Given the description of an element on the screen output the (x, y) to click on. 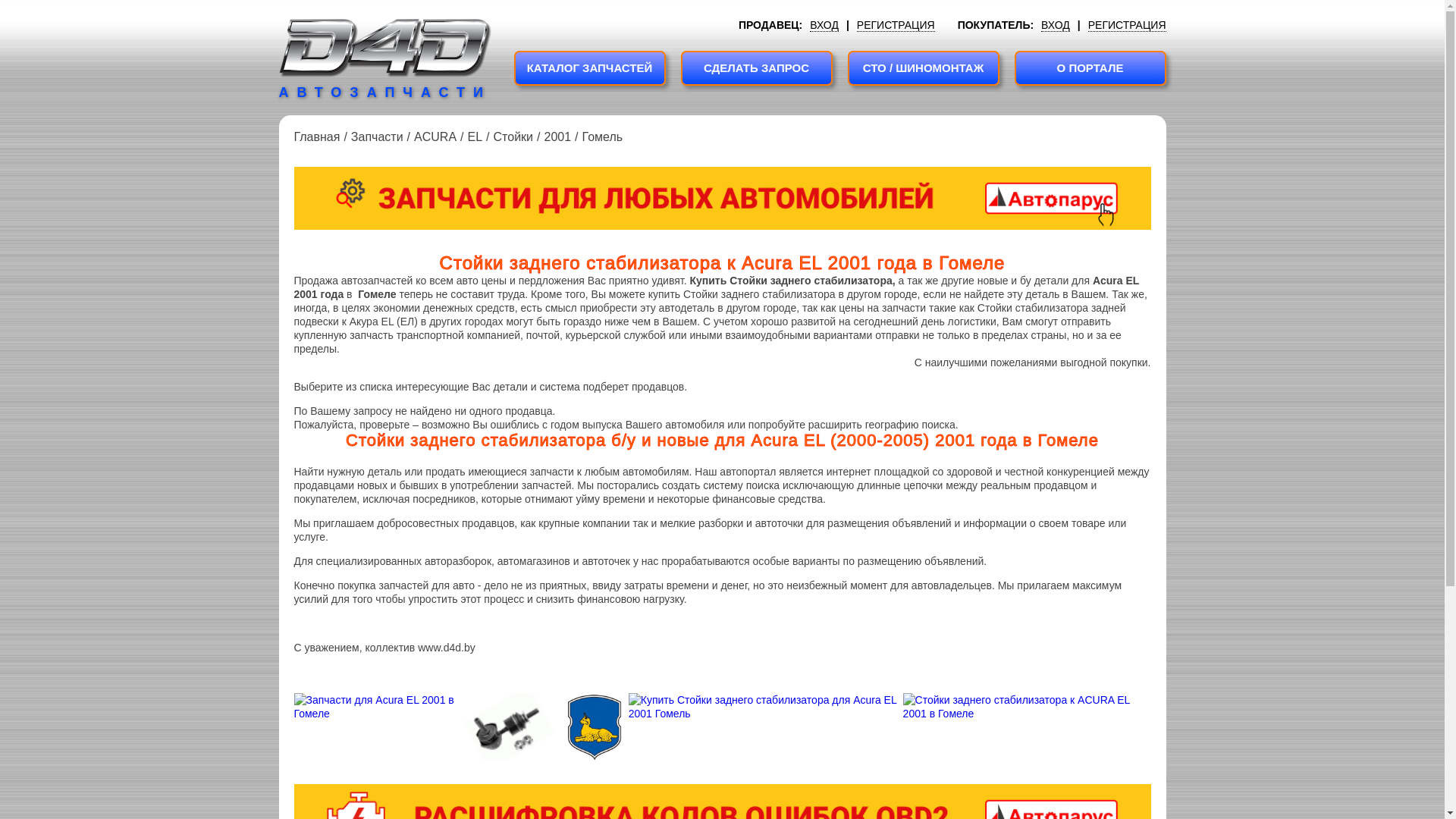
/EL Element type: text (469, 137)
/ACURA Element type: text (429, 137)
/2001 Element type: text (552, 137)
